Given the description of an element on the screen output the (x, y) to click on. 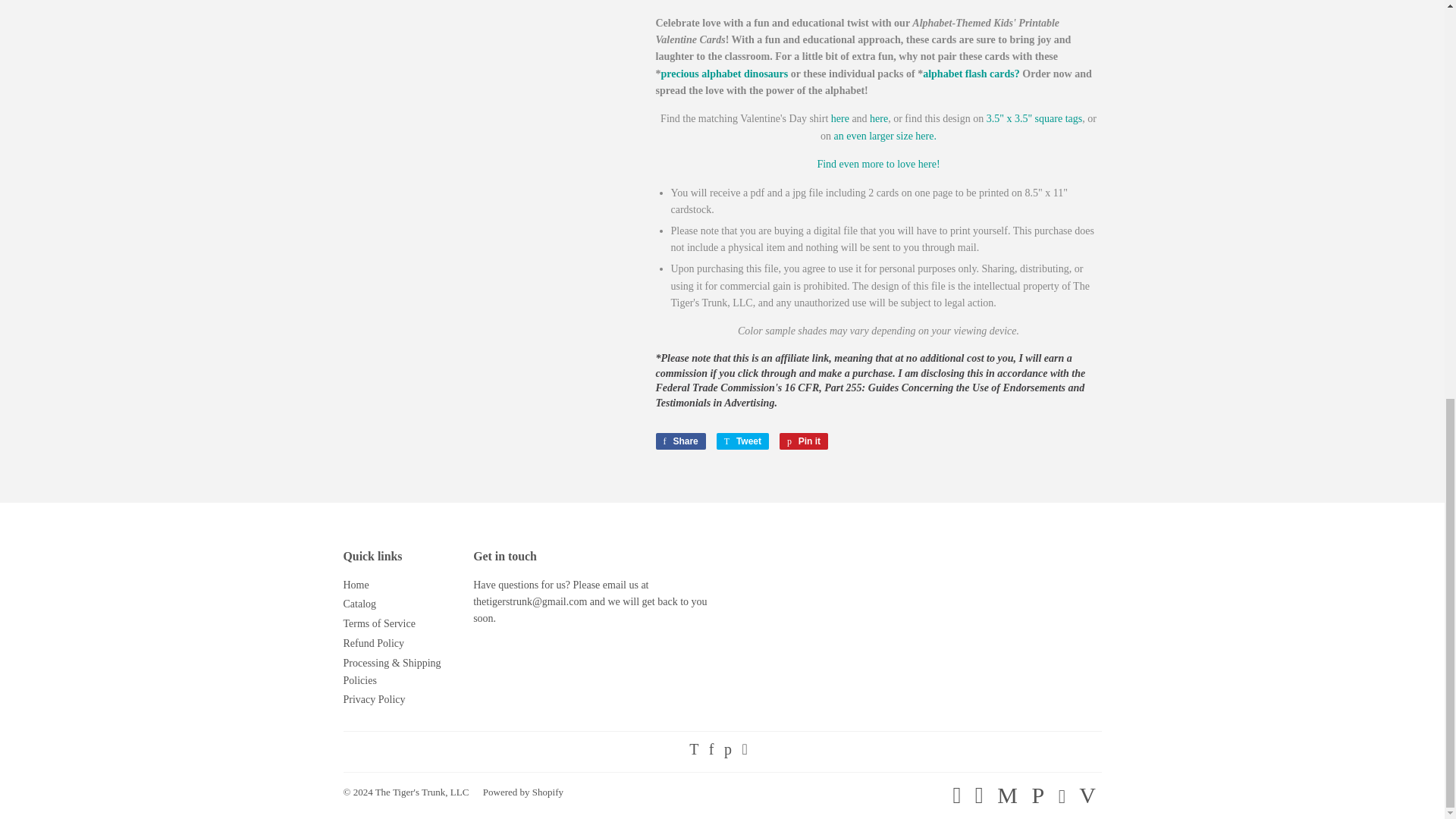
Tweet on Twitter (742, 441)
3.5" x 3.5" square tags (1035, 118)
Share on Facebook (679, 441)
here (839, 118)
an even larger size here. (679, 441)
here (885, 135)
alphabet flash cards? (878, 118)
Find even more to love here! (971, 73)
